Given the description of an element on the screen output the (x, y) to click on. 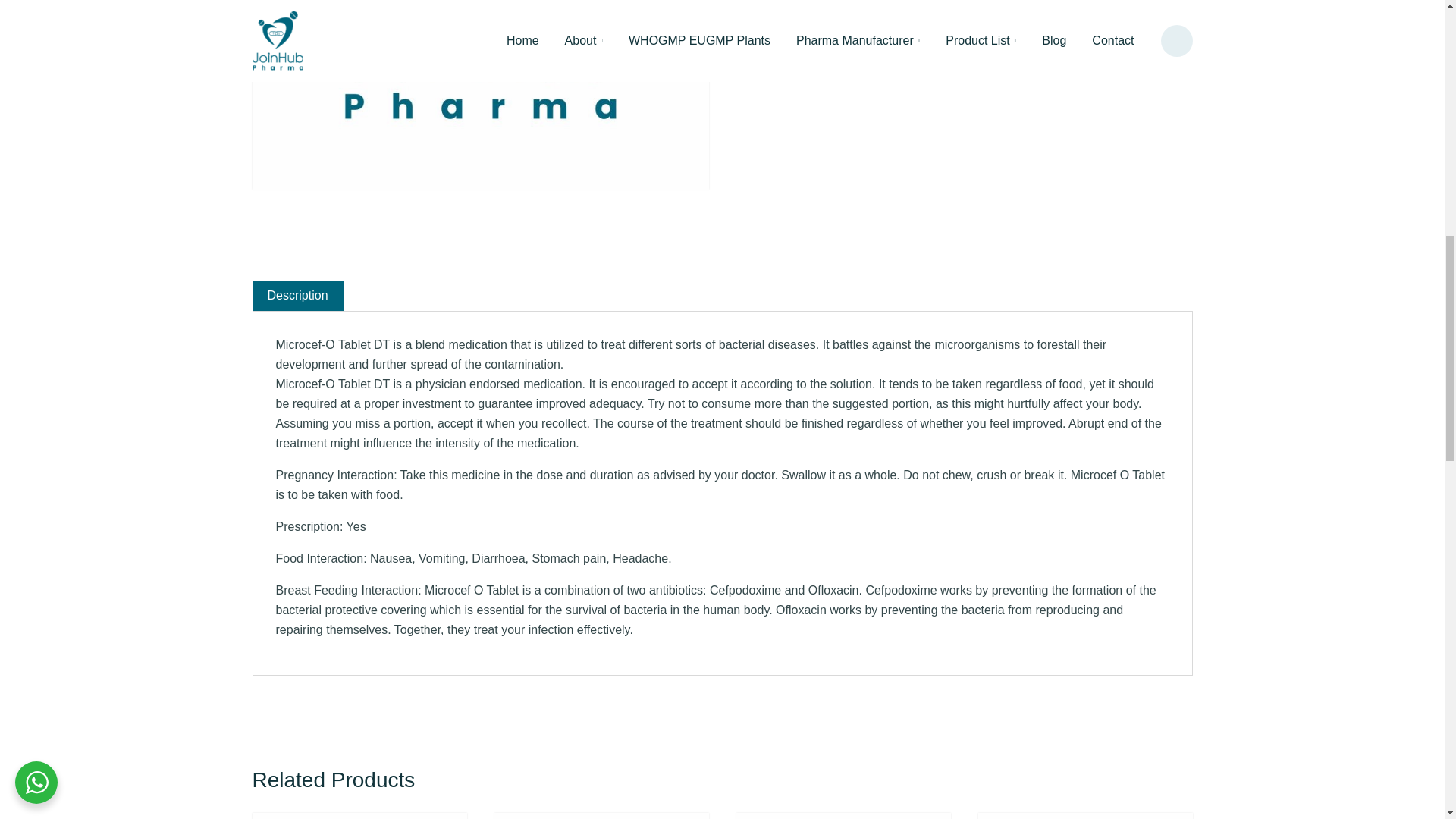
Description (296, 295)
Request a Quote (803, 57)
